Given the description of an element on the screen output the (x, y) to click on. 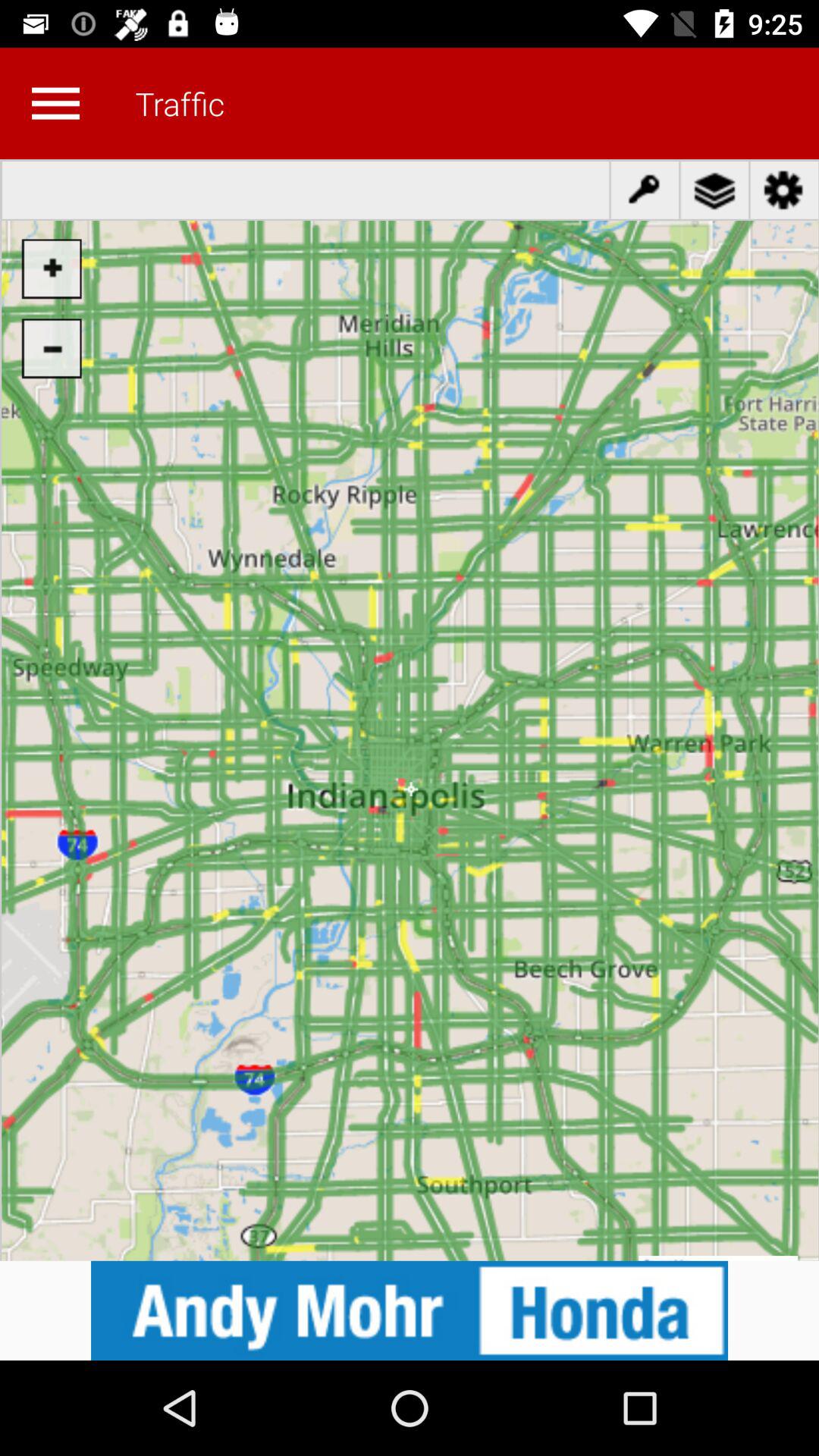
launch the icon next to traffic icon (55, 103)
